Given the description of an element on the screen output the (x, y) to click on. 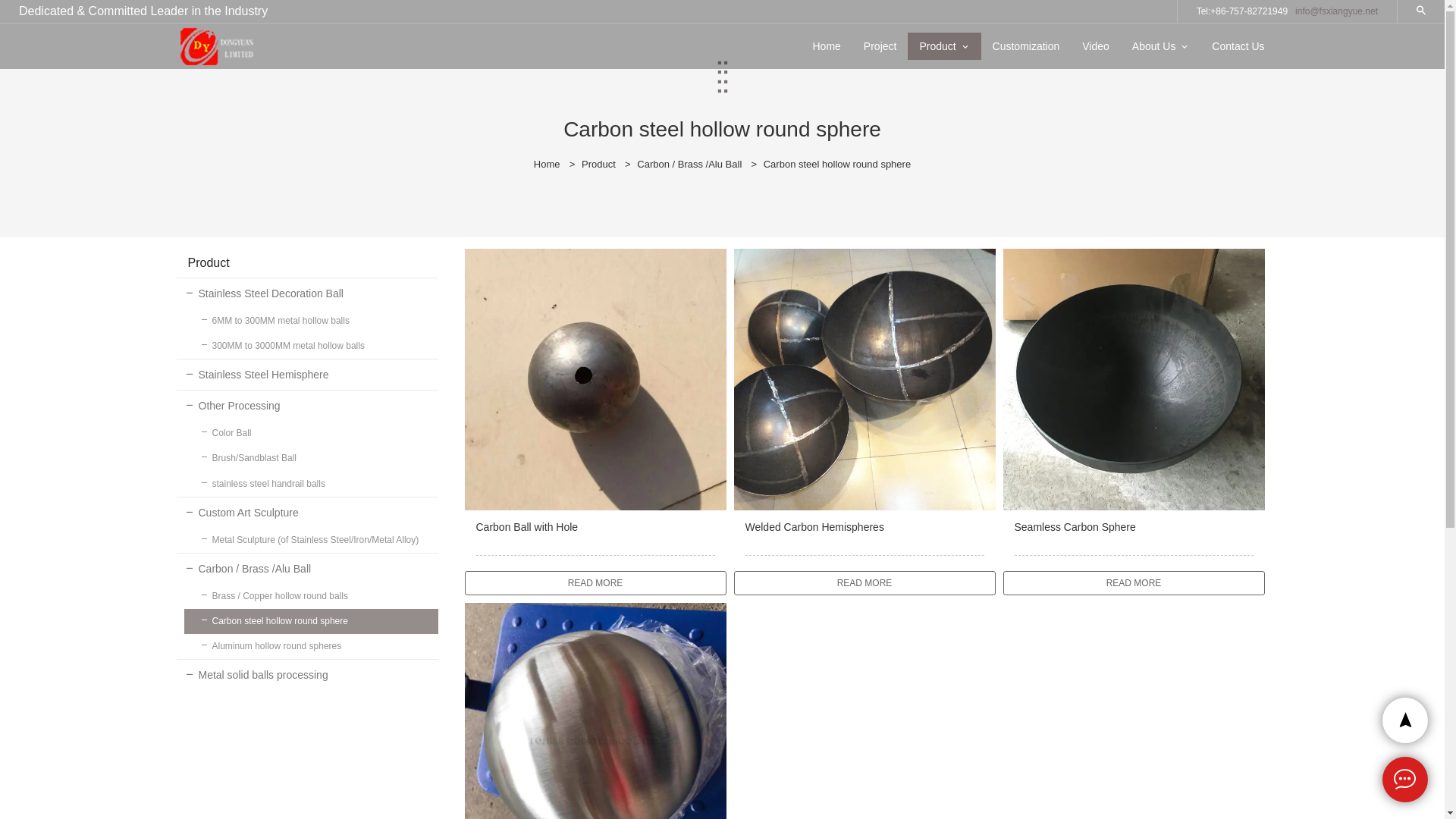
READ MORE Element type: text (864, 583)
Contact Us Element type: text (1237, 45)
Carbon / Brass /Alu Ball Element type: text (306, 568)
Carbon / Brass /Alu Ball Element type: text (689, 163)
Welded Carbon Hemispheres Element type: text (864, 536)
Other Processing Element type: text (306, 405)
Video Element type: text (1095, 45)
Home Element type: text (546, 163)
Carbon steel hollow round sphere Element type: text (310, 620)
Stainless Steel Decoration Ball Element type: text (306, 293)
Product Element type: text (936, 45)
Brush/Sandblast Ball Element type: text (310, 457)
Stainless Steel Hemisphere Element type: text (306, 374)
Custom Art Sculpture Element type: text (306, 512)
info@fsxiangyue.net Element type: text (1336, 11)
Carbon Ball with Hole Element type: text (594, 536)
Carbon steel hollow round sphere Element type: text (836, 163)
Product Element type: text (598, 163)
Project Element type: text (880, 45)
READ MORE Element type: text (1133, 583)
Brass / Copper hollow round balls Element type: text (310, 595)
Customization Element type: text (1026, 45)
stainless steel handrail balls Element type: text (310, 483)
300MM to 3000MM metal hollow balls Element type: text (310, 345)
Metal solid balls processing Element type: text (306, 674)
Color Ball Element type: text (310, 432)
Metal Sculpture (of Stainless Steel/Iron/Metal Alloy) Element type: text (310, 539)
READ MORE Element type: text (594, 583)
Seamless Carbon Sphere Element type: text (1133, 536)
About Us Element type: text (1153, 45)
6MM to 300MM metal hollow balls Element type: text (310, 320)
Home Element type: text (825, 45)
Aluminum hollow round spheres Element type: text (310, 645)
